Given the description of an element on the screen output the (x, y) to click on. 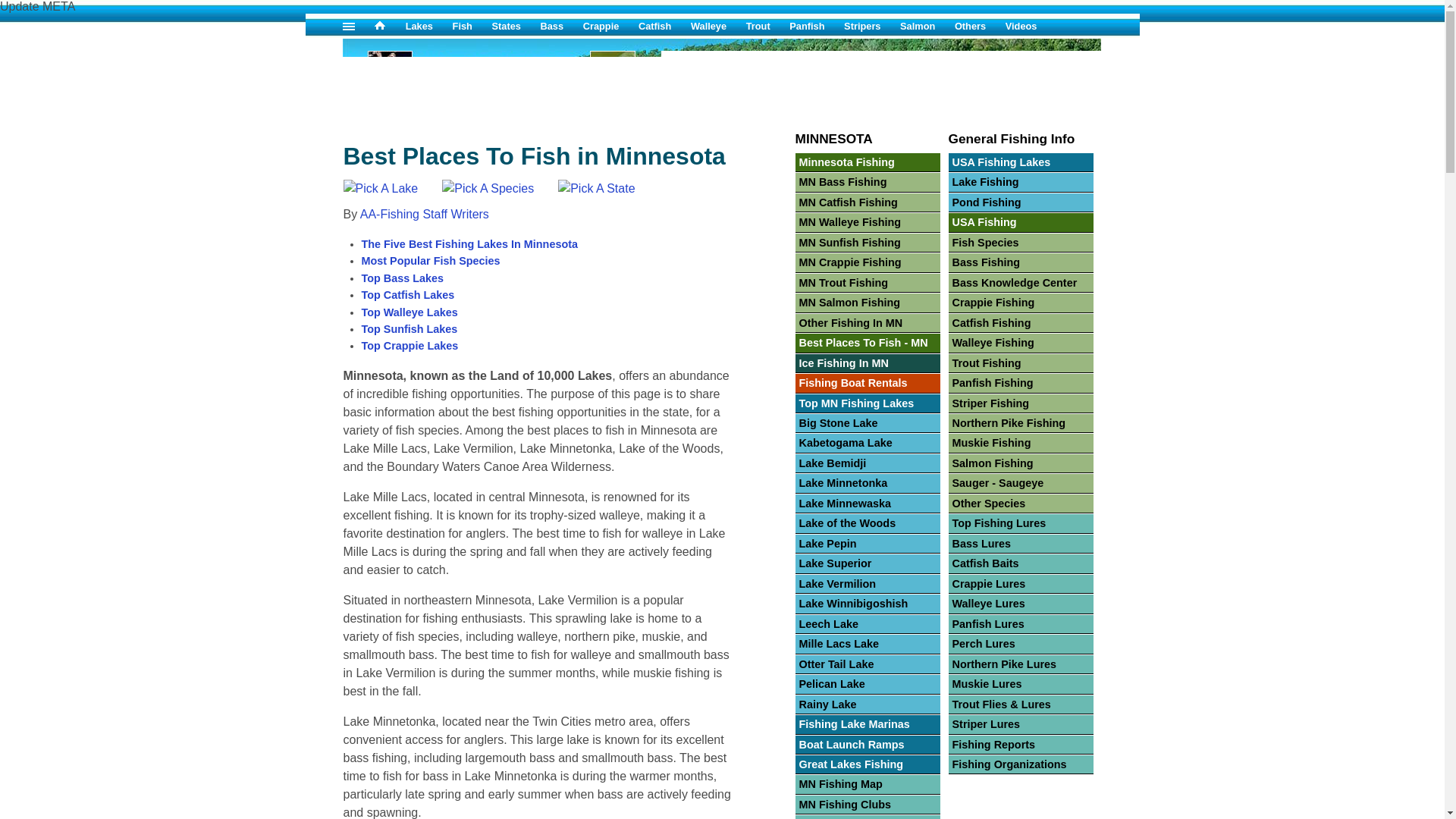
Others (980, 25)
Striped Bass Fishing (871, 25)
Fishing Videos (1031, 25)
Fishing (501, 105)
Fishing In All States (501, 73)
Top Walleye Lakes (409, 312)
Videos (1031, 25)
All About Fishing (390, 25)
Fishing Lakes (429, 25)
States (516, 25)
